Given the description of an element on the screen output the (x, y) to click on. 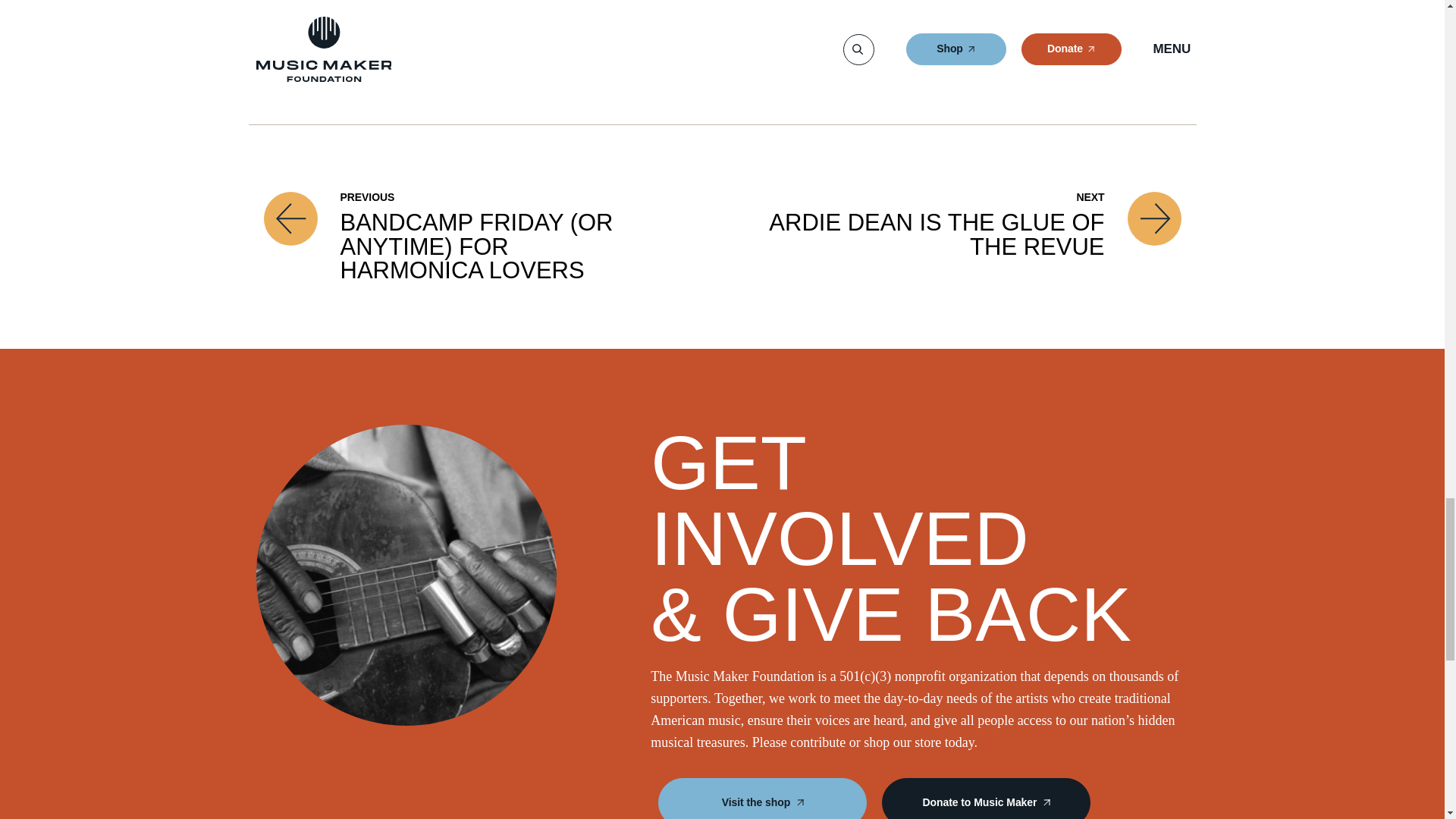
Visit the shop (762, 798)
Big Legal Mess (478, 67)
Big Legal Mess (478, 67)
Donate to Music Maker (986, 798)
Next Story: Ardie Dean Is the Glue of the Revue (955, 236)
